Given the description of an element on the screen output the (x, y) to click on. 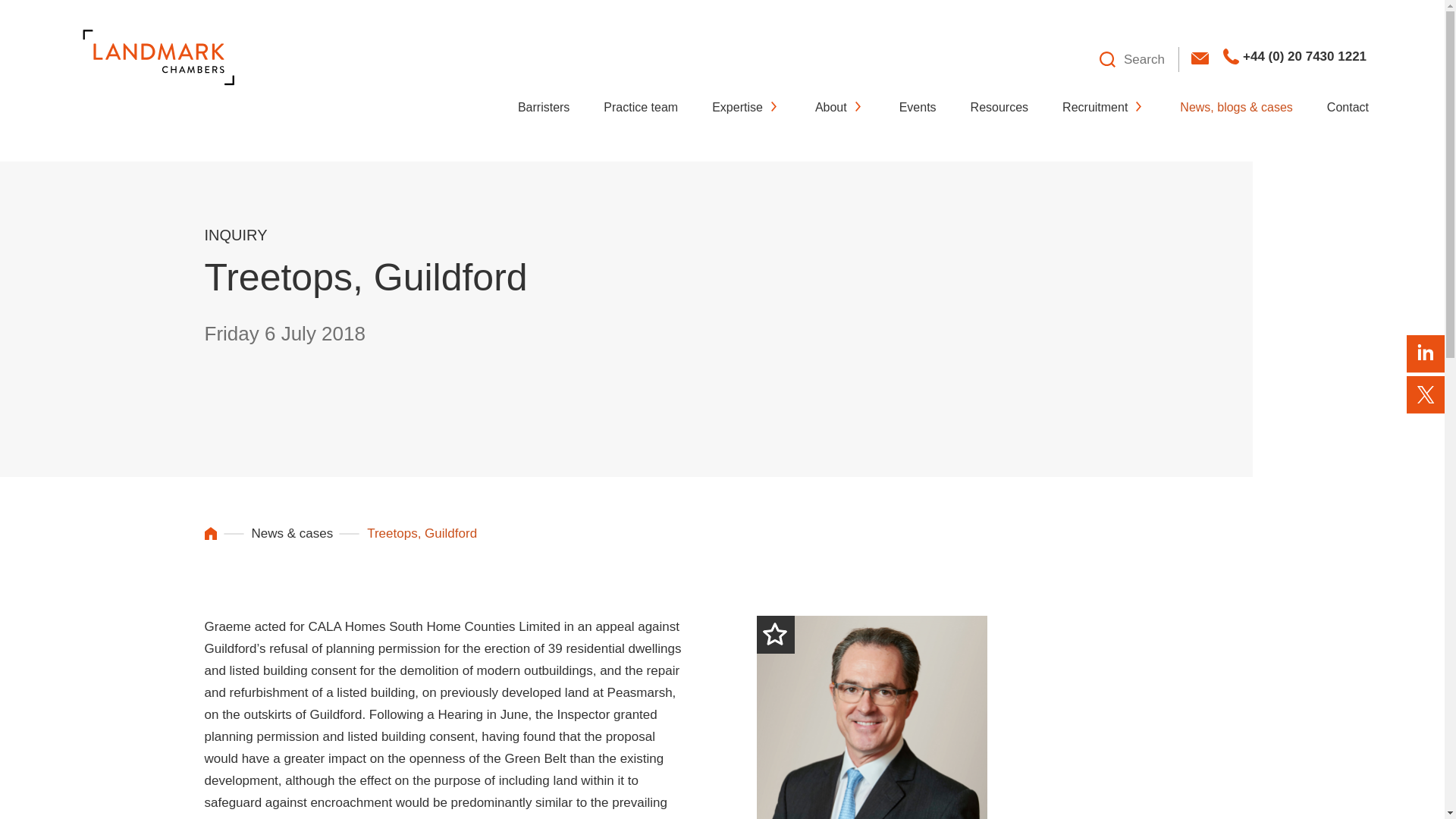
Barristers (543, 107)
Contact (1347, 107)
Events (917, 107)
Practice team (641, 107)
Resources (999, 107)
